Given the description of an element on the screen output the (x, y) to click on. 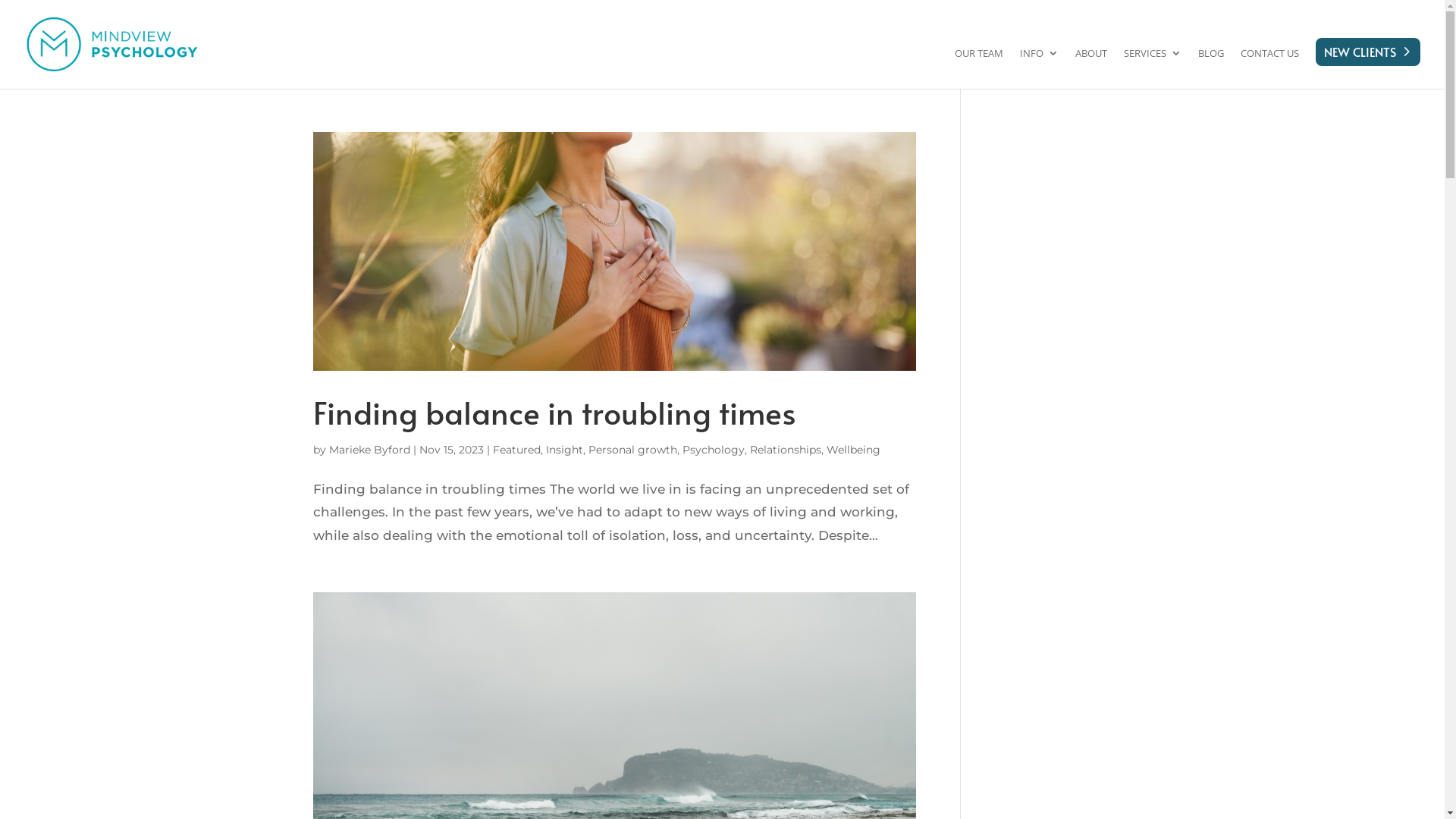
OUR TEAM Element type: text (978, 64)
Personal growth Element type: text (632, 449)
Wellbeing Element type: text (853, 449)
ABOUT Element type: text (1091, 64)
Featured Element type: text (516, 449)
CONTACT US Element type: text (1269, 64)
SERVICES Element type: text (1152, 64)
Marieke Byford Element type: text (369, 449)
BLOG Element type: text (1210, 64)
Insight Element type: text (564, 449)
NEW CLIENTS Element type: text (1367, 55)
INFO Element type: text (1038, 64)
Relationships Element type: text (784, 449)
Finding balance in troubling times Element type: text (553, 411)
Psychology Element type: text (713, 449)
